Given the description of an element on the screen output the (x, y) to click on. 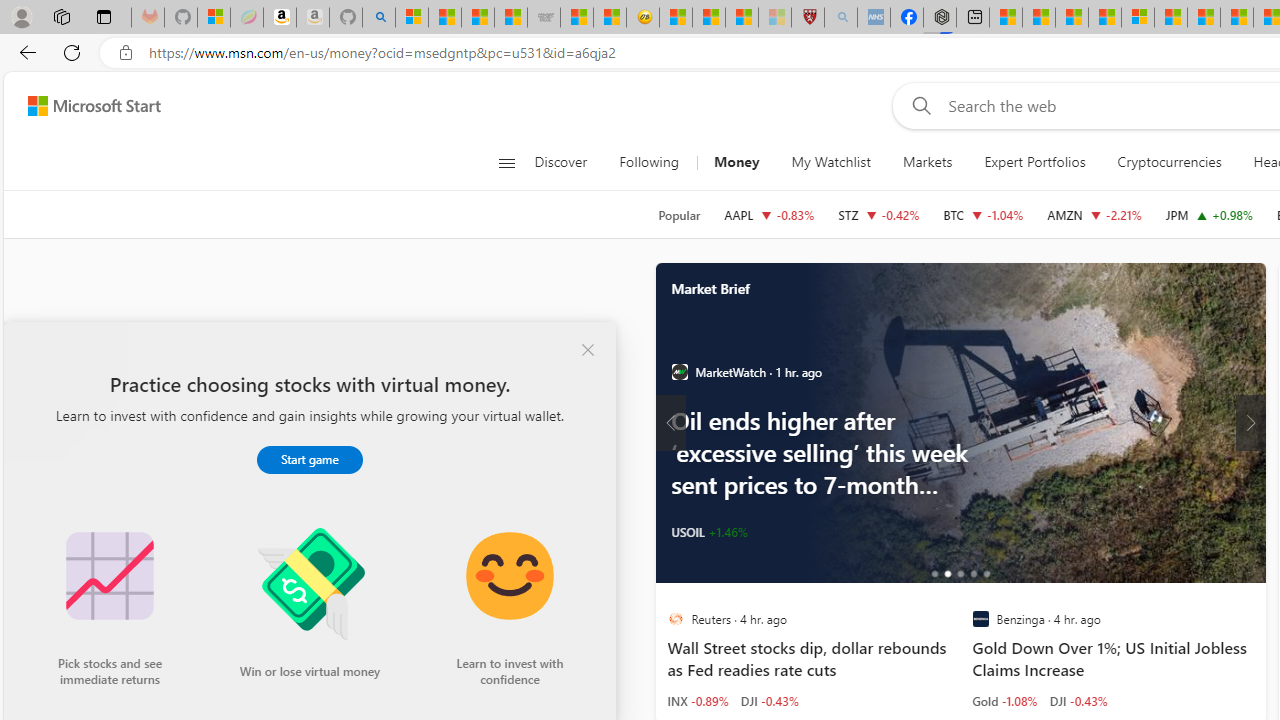
INX -0.89% (697, 700)
Markets (926, 162)
JPM JPMORGAN CHASE & CO. increase 216.71 +2.11 +0.98% (1209, 214)
